Given the description of an element on the screen output the (x, y) to click on. 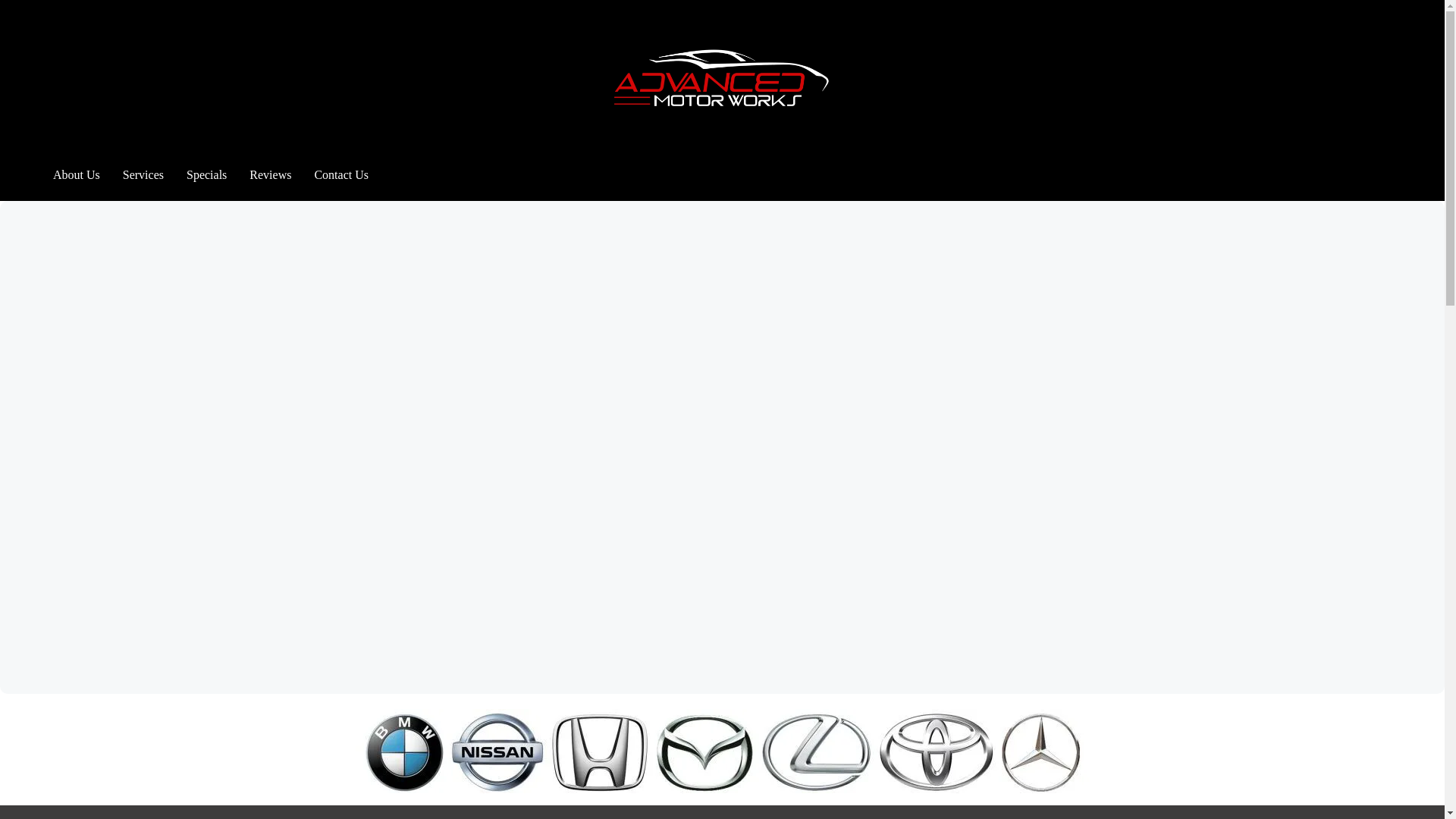
Services (142, 174)
Advanced Motor Works (721, 83)
About Us (76, 174)
Reviews (269, 174)
Specials (206, 174)
Contact Us (341, 174)
